Given the description of an element on the screen output the (x, y) to click on. 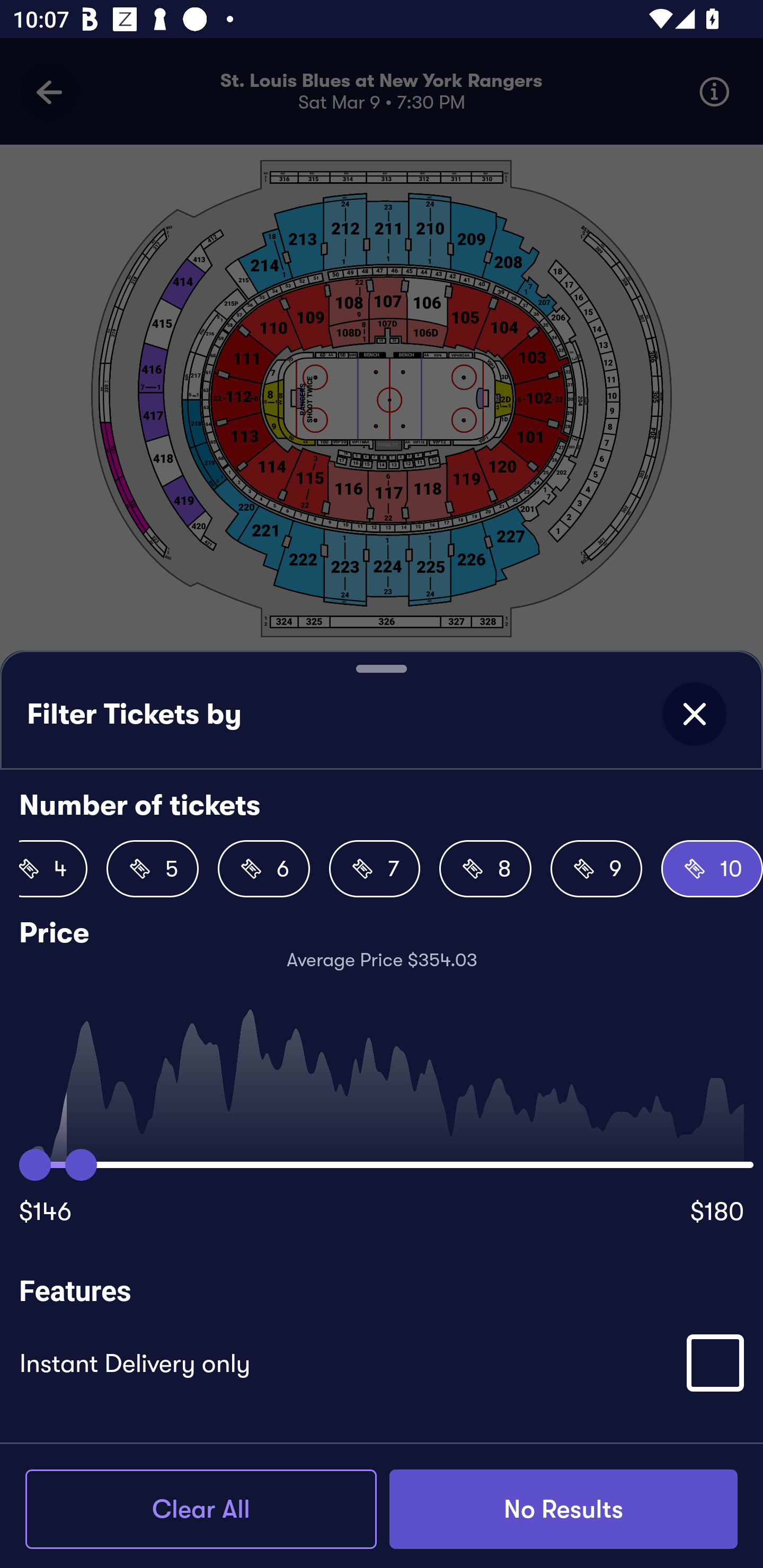
close (694, 714)
4 (53, 868)
5 (152, 868)
6 (263, 868)
7 (374, 868)
8 (485, 868)
9 (596, 868)
10 (712, 868)
Clear All (200, 1509)
No Results (563, 1509)
